Given the description of an element on the screen output the (x, y) to click on. 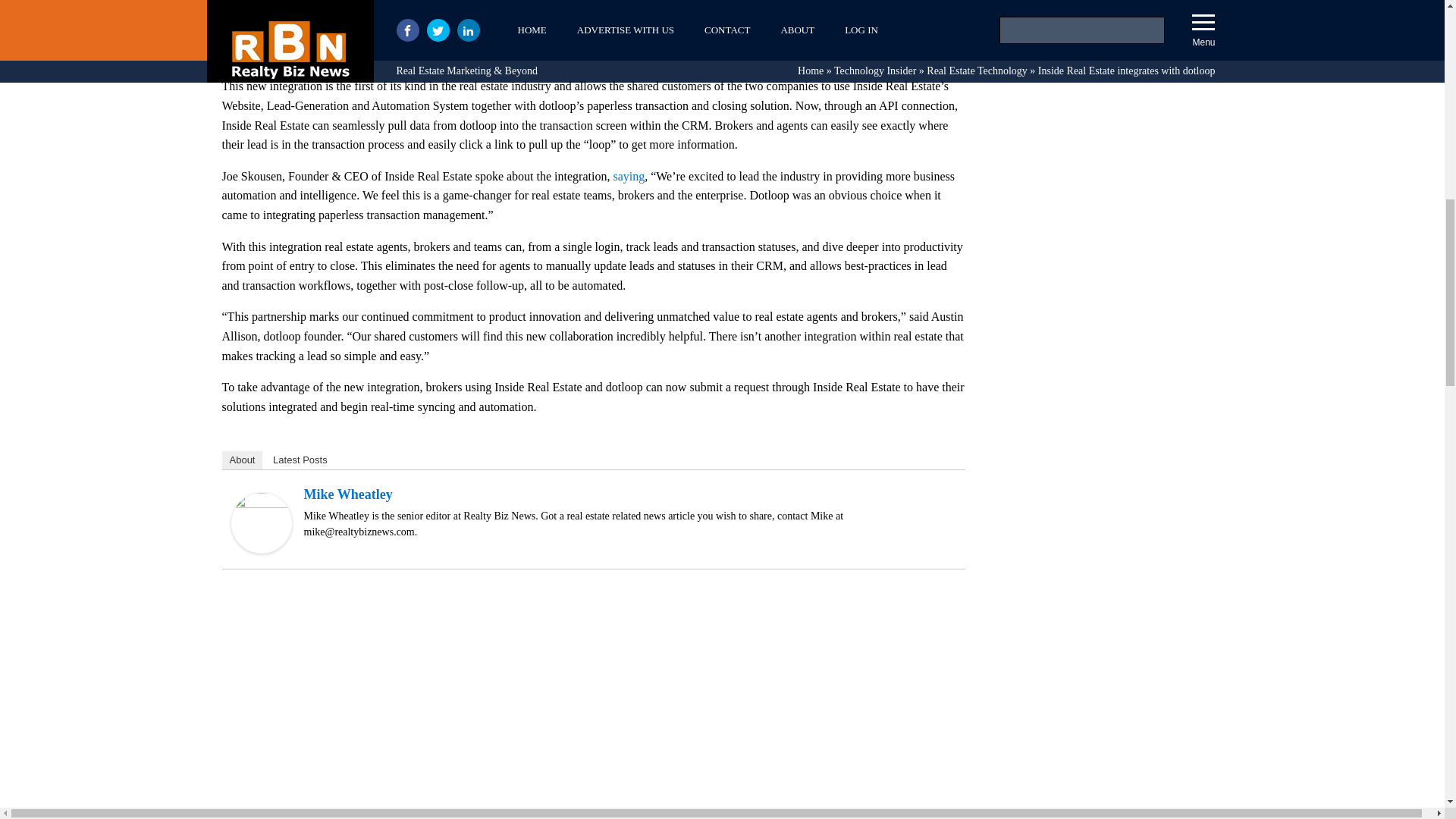
Mike Wheatley (260, 549)
